Given the description of an element on the screen output the (x, y) to click on. 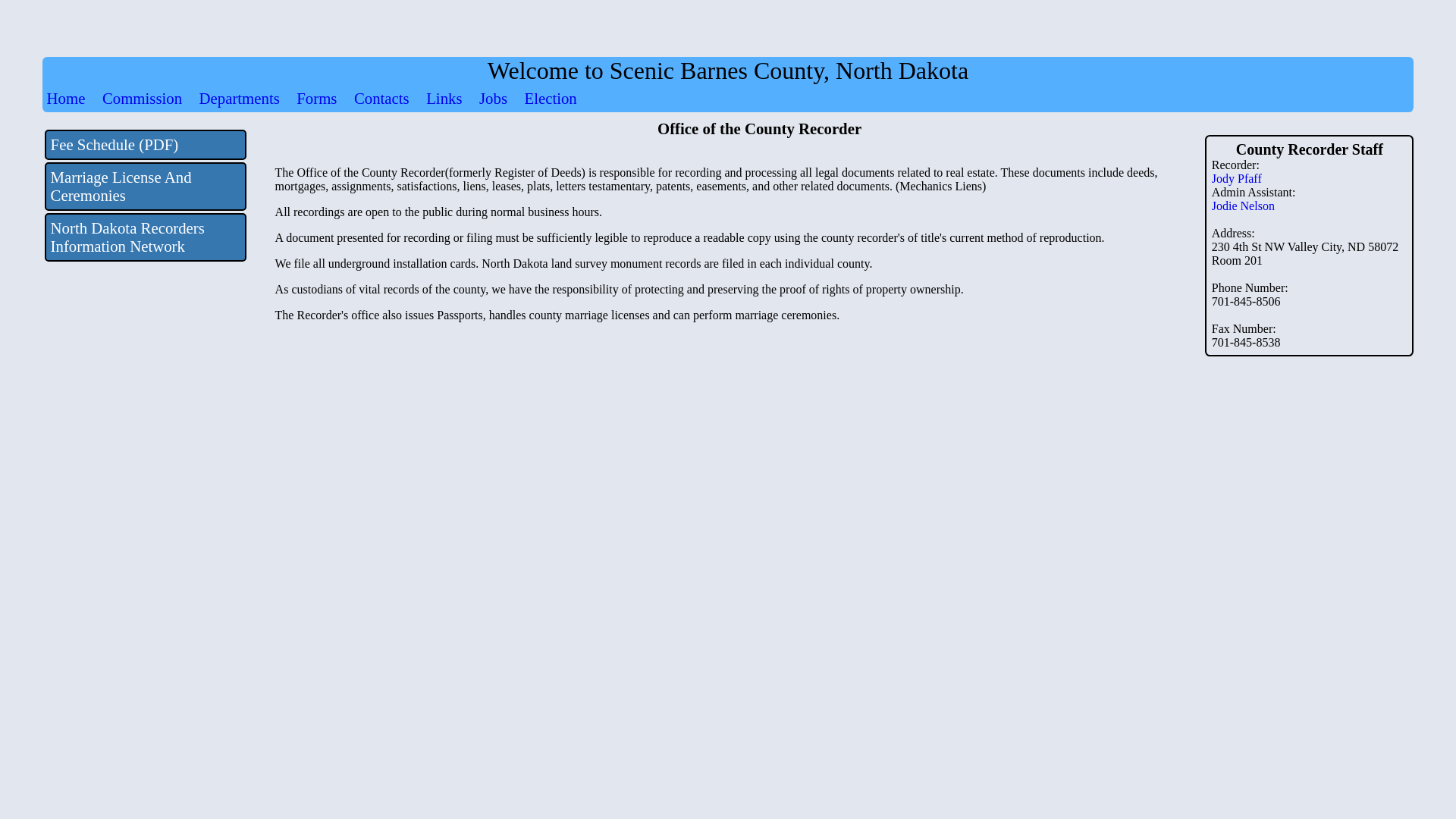
Jobs (492, 98)
Links (443, 98)
North Dakota Recorders Information Network (146, 236)
Home (65, 98)
Election (550, 98)
Commission (141, 98)
Contacts (381, 98)
Jody Pfaff (1236, 178)
Jodie Nelson (1243, 205)
Forms (316, 98)
